Given the description of an element on the screen output the (x, y) to click on. 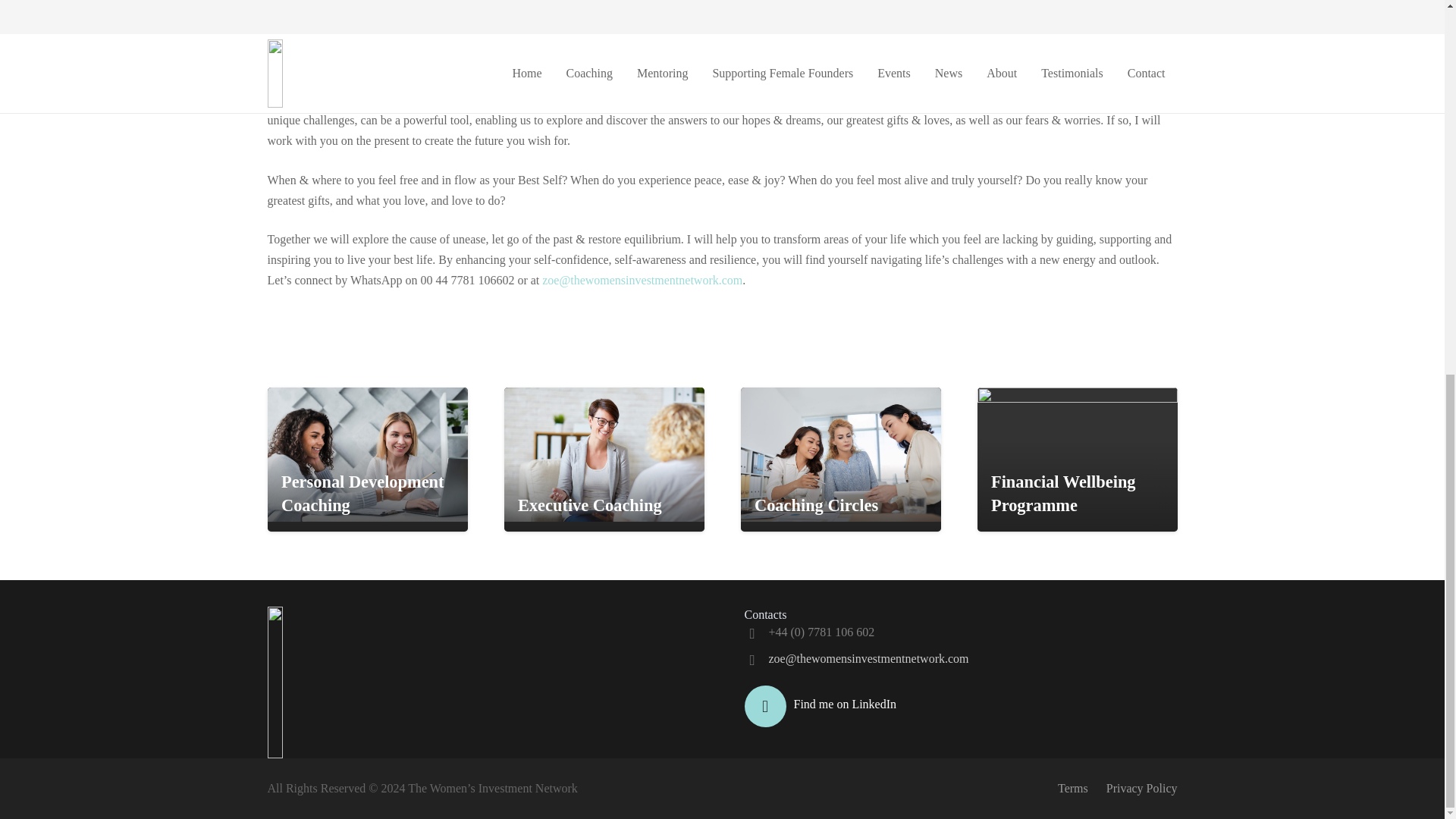
Privacy Policy (1141, 788)
Find me on LinkedIn (844, 703)
Executive Coaching (590, 505)
LinkedIn (765, 706)
Terms (1072, 788)
Financial Wellbeing Programme (1063, 493)
Personal Development Coaching (362, 493)
Coaching Circles (815, 505)
Back to top (1413, 157)
